Given the description of an element on the screen output the (x, y) to click on. 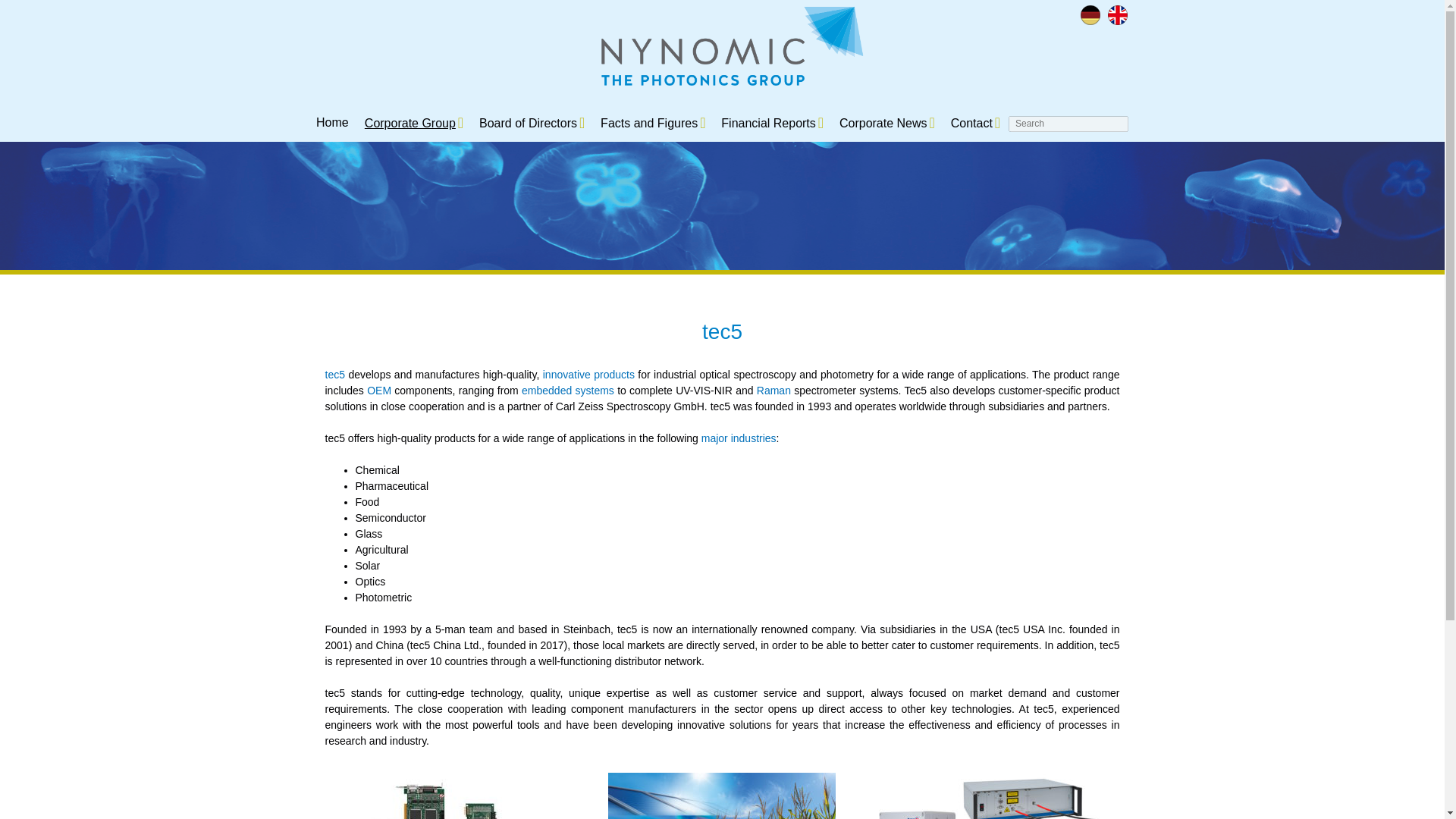
Facts and Figures (648, 123)
Home (332, 122)
Financial Reports (767, 123)
Corporate Group (410, 123)
Board of Directors (527, 123)
Corporate News (883, 123)
Contact (971, 123)
DE (1089, 14)
EN (1116, 14)
